Given the description of an element on the screen output the (x, y) to click on. 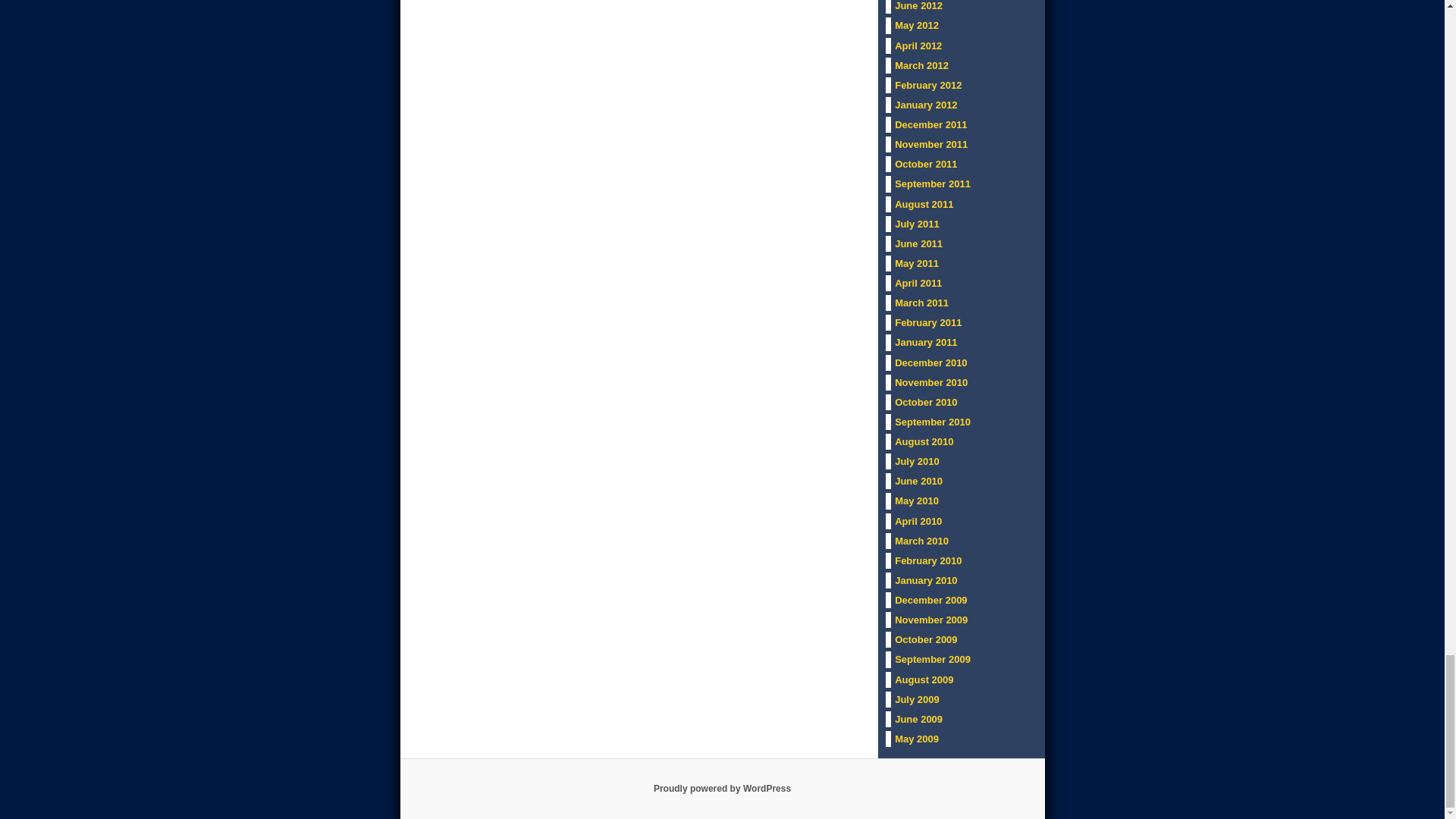
Semantic Personal Publishing Platform (721, 787)
